Given the description of an element on the screen output the (x, y) to click on. 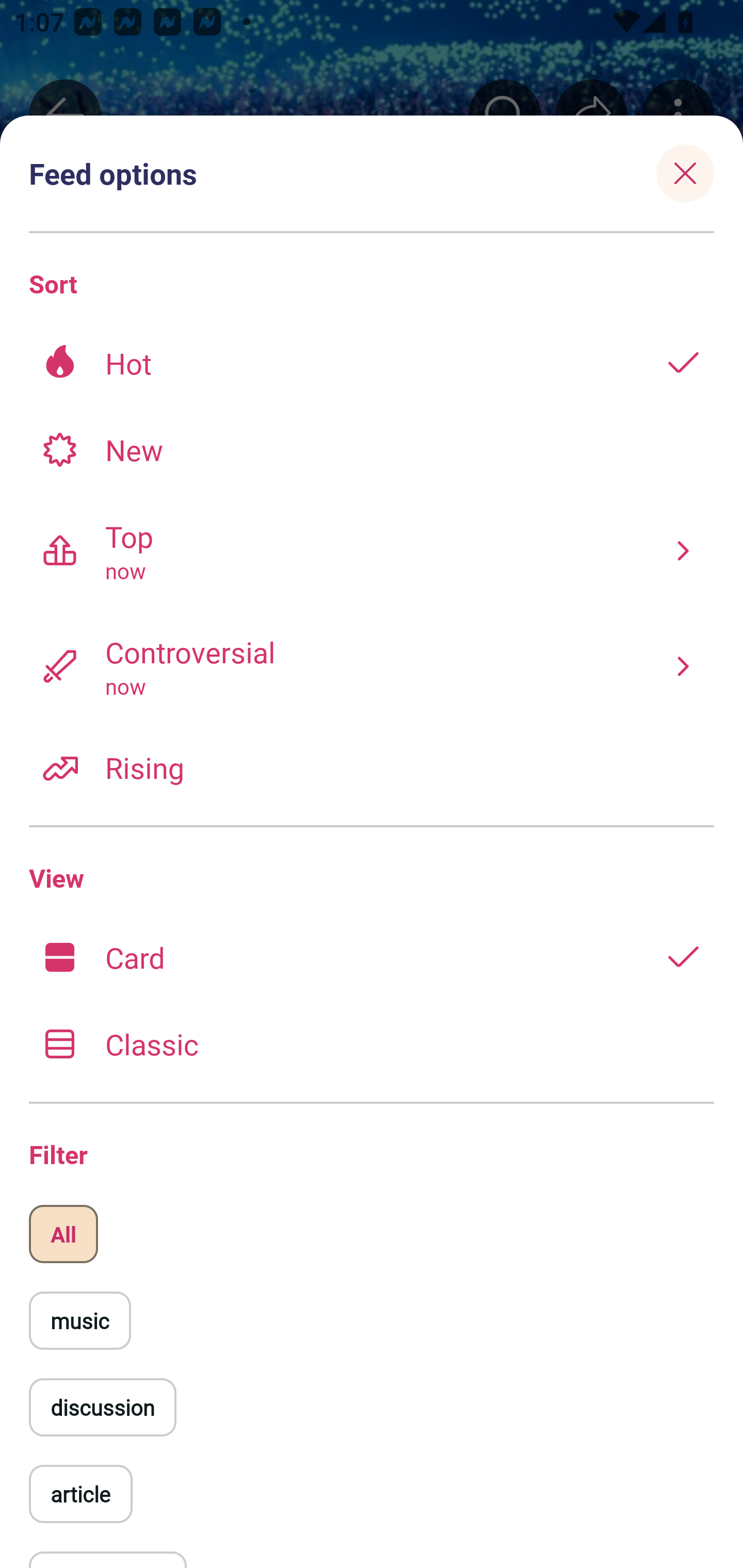
Close sheet (684, 173)
Hot (371, 362)
New (371, 449)
Top now (371, 550)
Controversial now (371, 666)
Rising (371, 767)
Card (371, 957)
Classic (371, 1043)
All (63, 1233)
music (79, 1320)
discussion (102, 1407)
article (80, 1493)
